Given the description of an element on the screen output the (x, y) to click on. 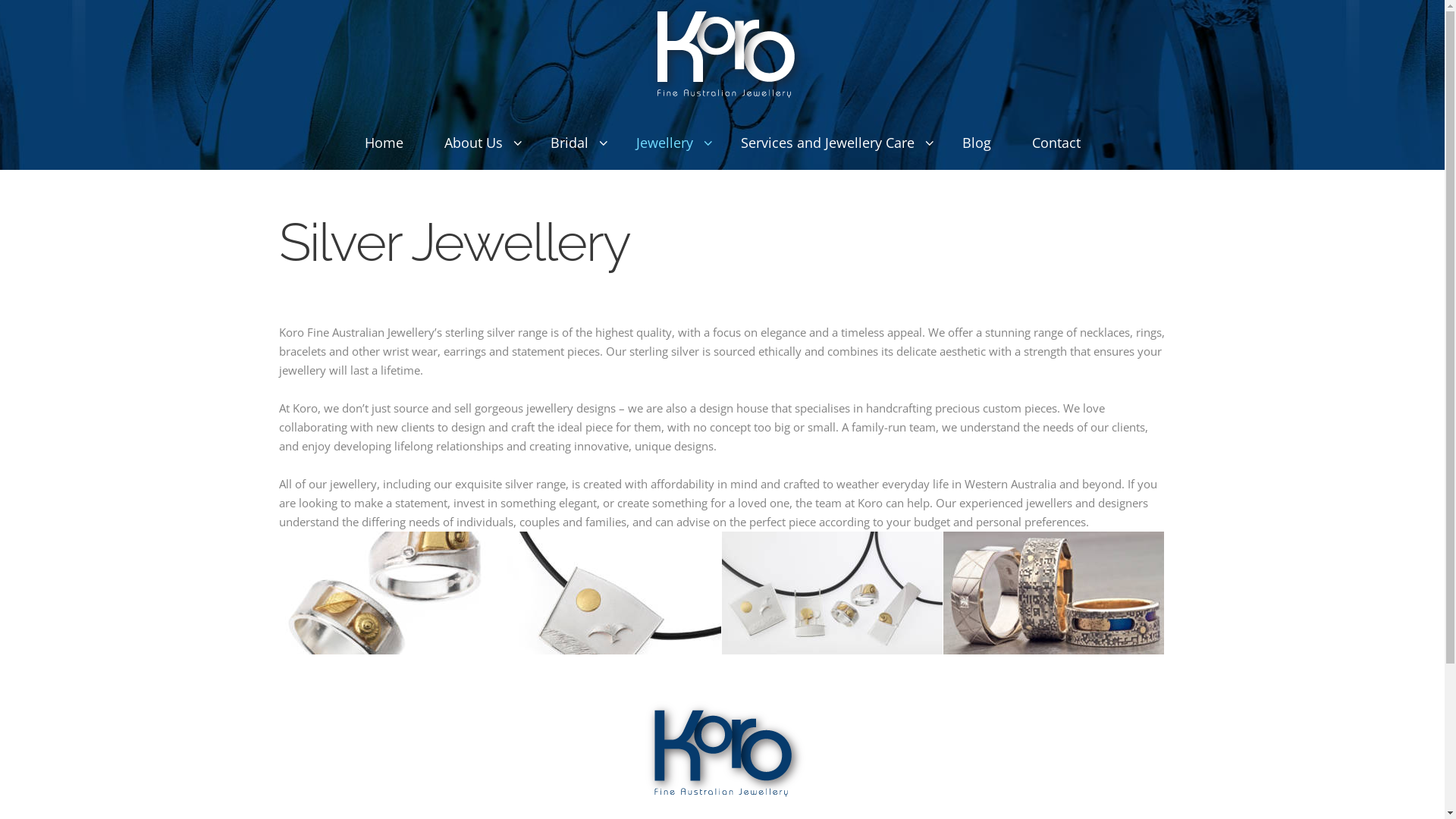
silver pendant Perth Element type: hover (610, 592)
Services and Jewellery Care Element type: text (830, 142)
Bridal Element type: text (572, 142)
Contact Element type: text (1056, 142)
gents silver wedding ring Perth Element type: hover (1053, 592)
silver ring Perth Element type: hover (389, 592)
Home Element type: text (383, 142)
Jewellery Element type: text (667, 142)
About Us Element type: text (476, 142)
silver pendant Perth Element type: hover (831, 592)
Blog Element type: text (976, 142)
